Given the description of an element on the screen output the (x, y) to click on. 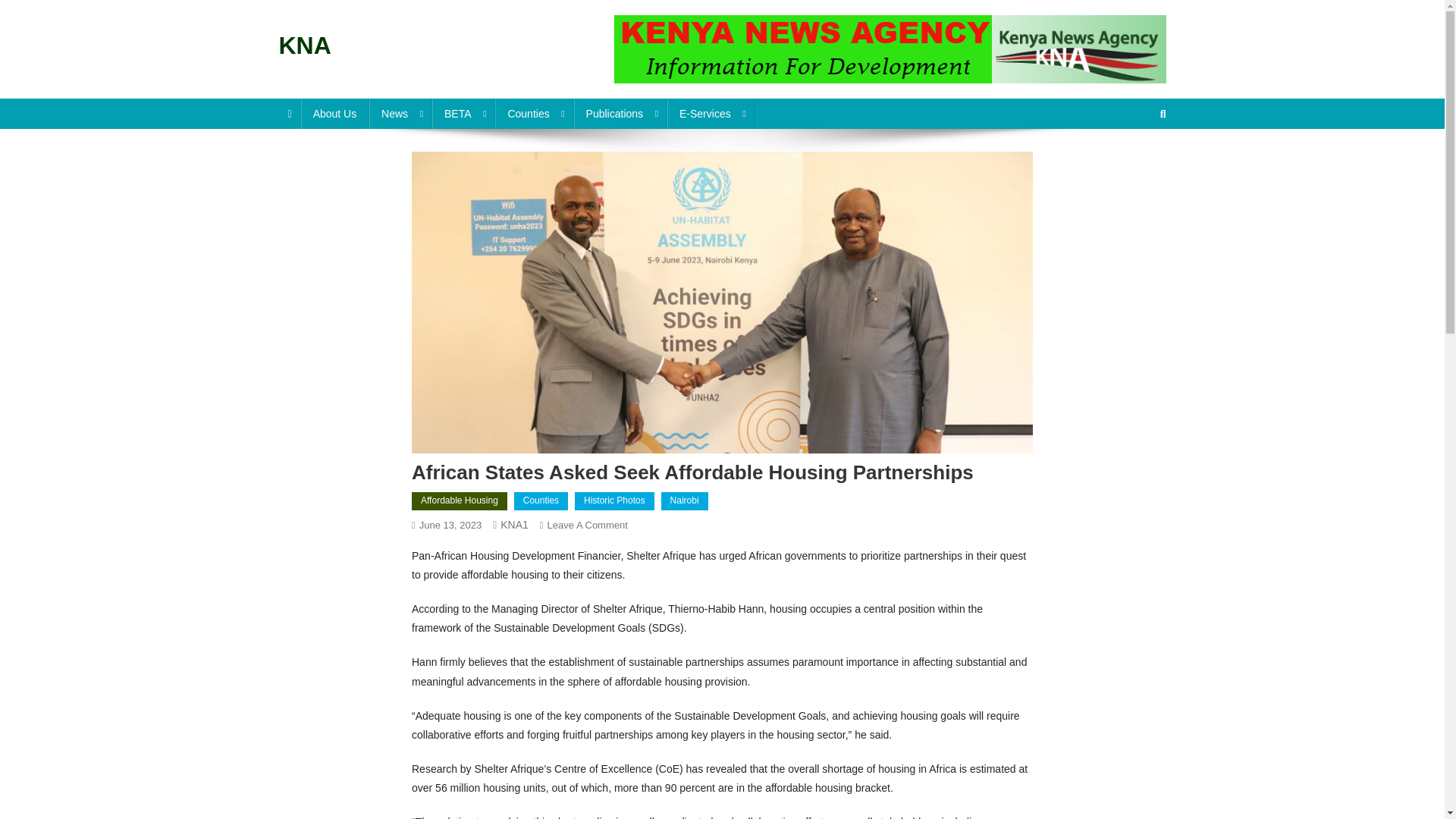
News (399, 113)
KNA (305, 44)
Counties (533, 113)
About Us (335, 113)
BETA (463, 113)
